Given the description of an element on the screen output the (x, y) to click on. 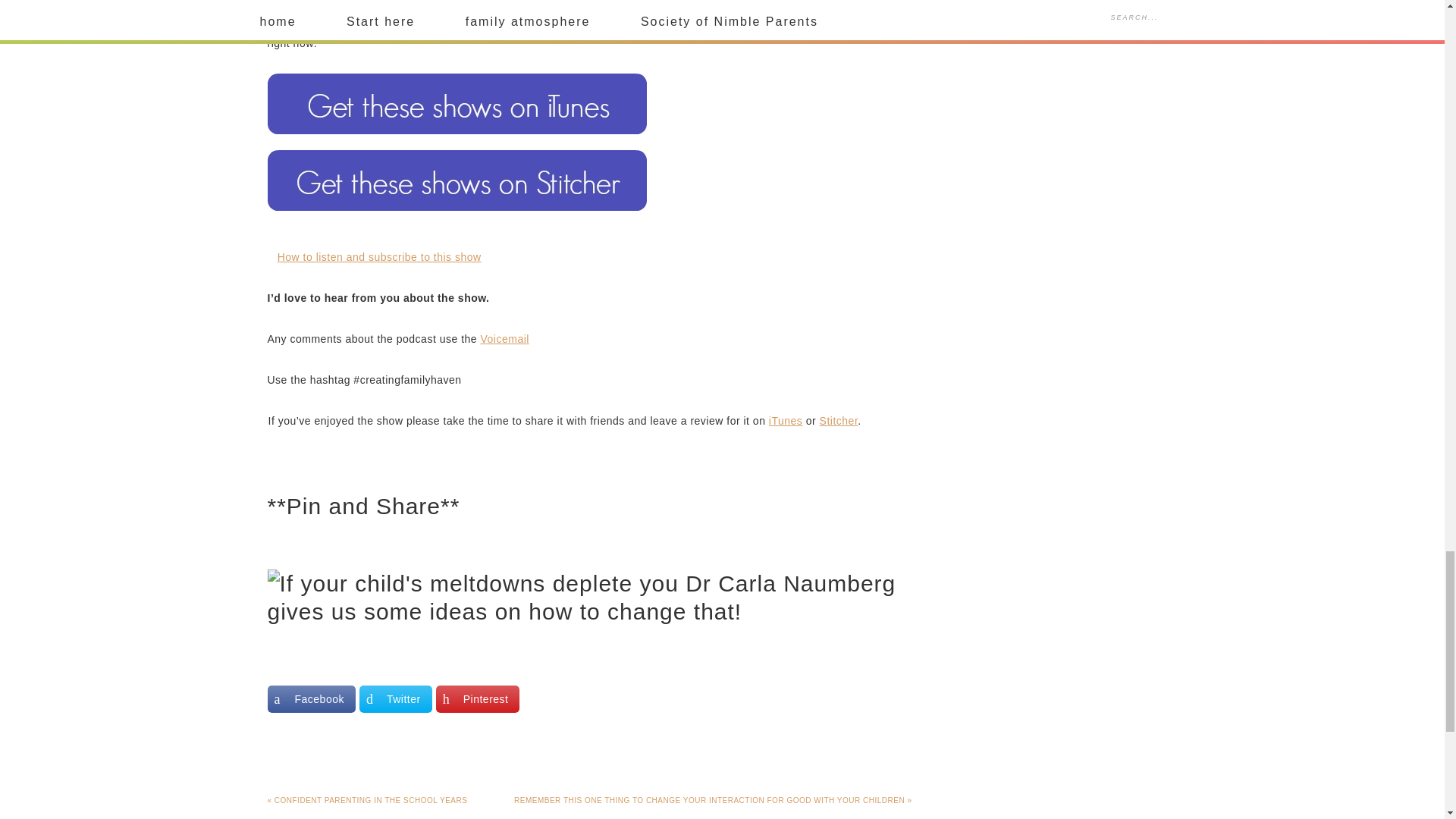
Stitcher (839, 420)
Share on Pinterest (477, 698)
Twitter (395, 698)
Share on Facebook (310, 698)
Voicemail (504, 338)
Share on Twitter (395, 698)
How to listen and subscribe to this show (379, 256)
iTunes (785, 420)
Facebook (310, 698)
